Given the description of an element on the screen output the (x, y) to click on. 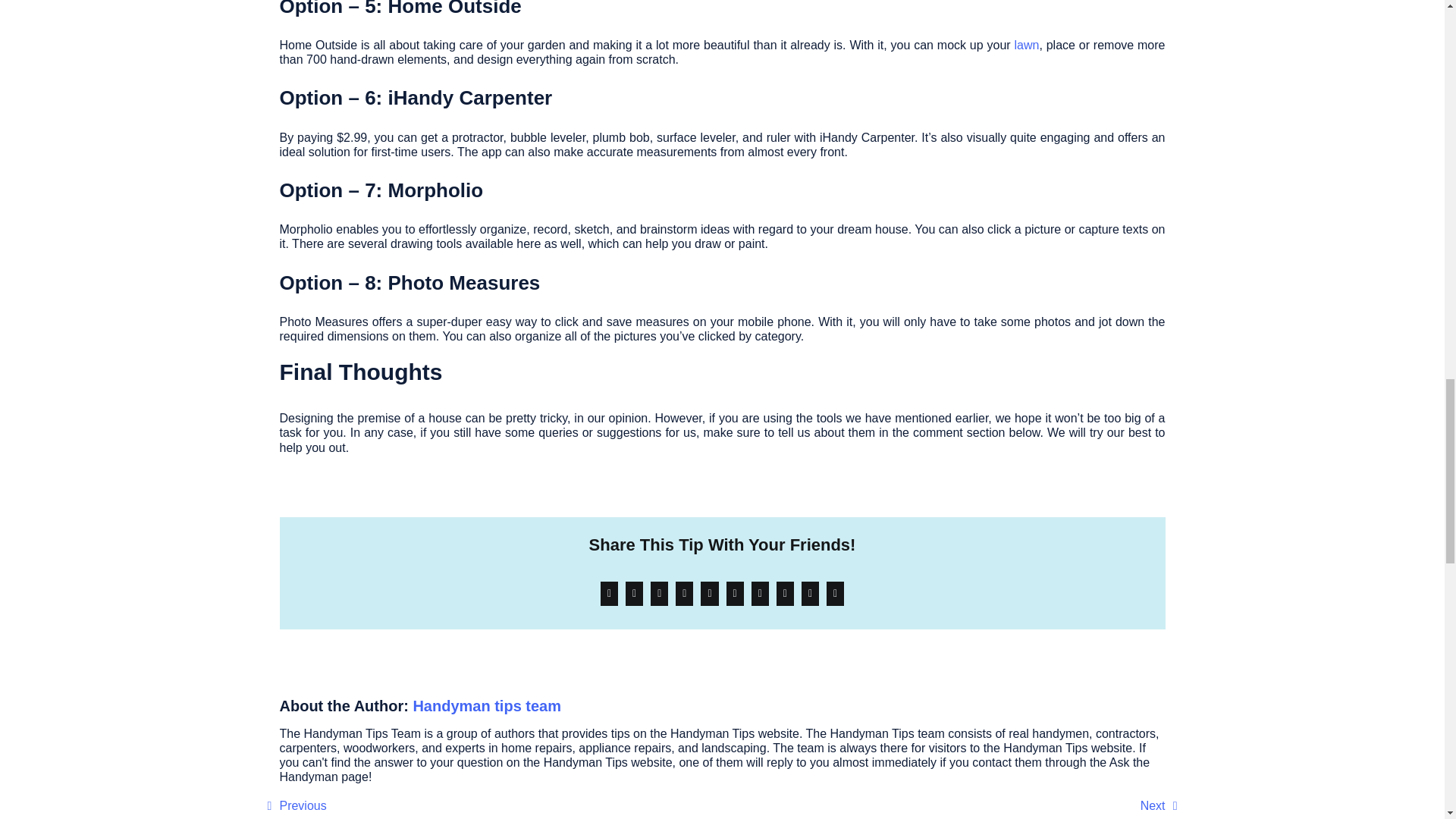
lawn (1026, 44)
Handyman tips team (486, 705)
Next (1158, 806)
Previous (296, 806)
